Given the description of an element on the screen output the (x, y) to click on. 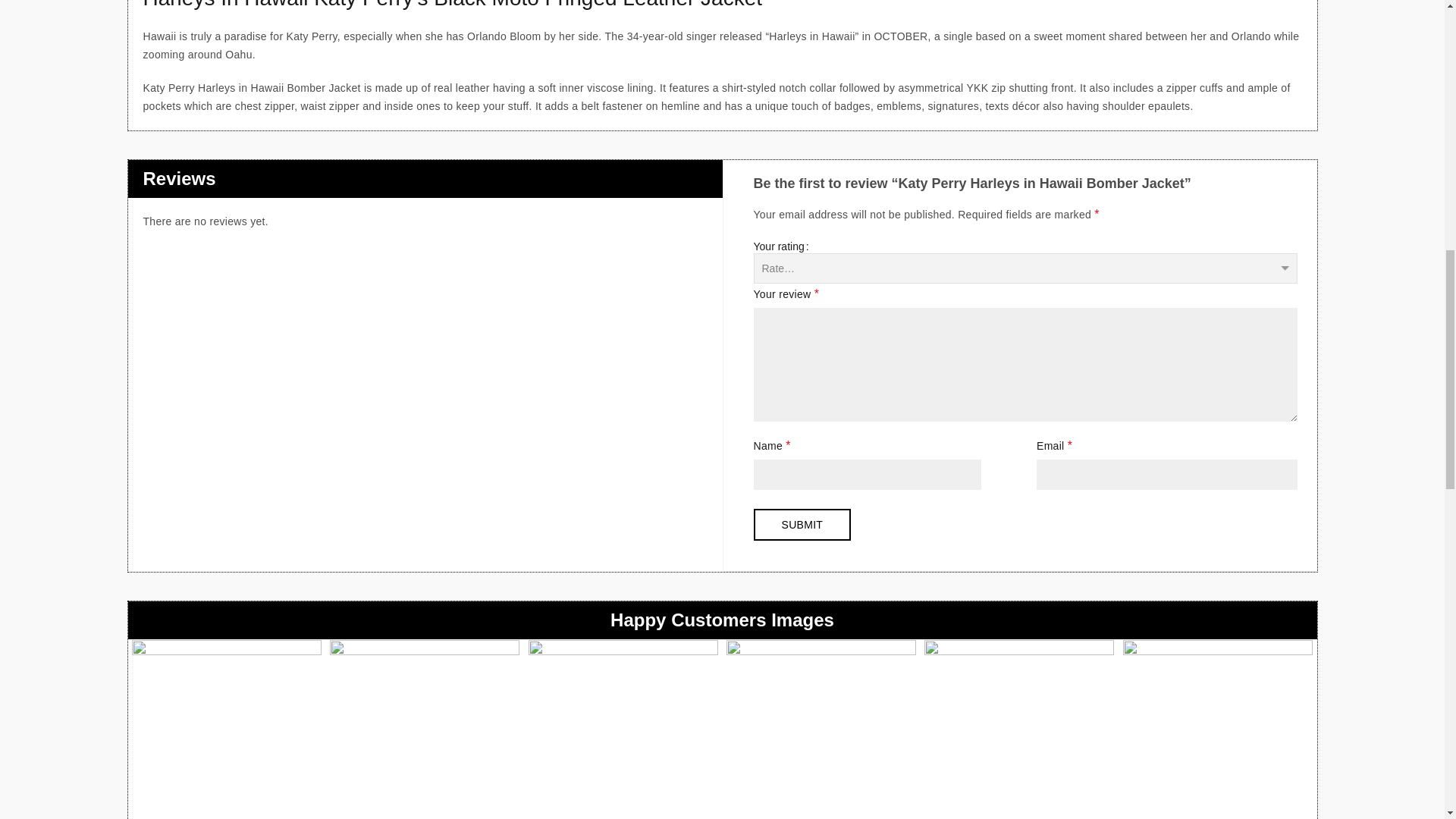
Submit (802, 524)
